Given the description of an element on the screen output the (x, y) to click on. 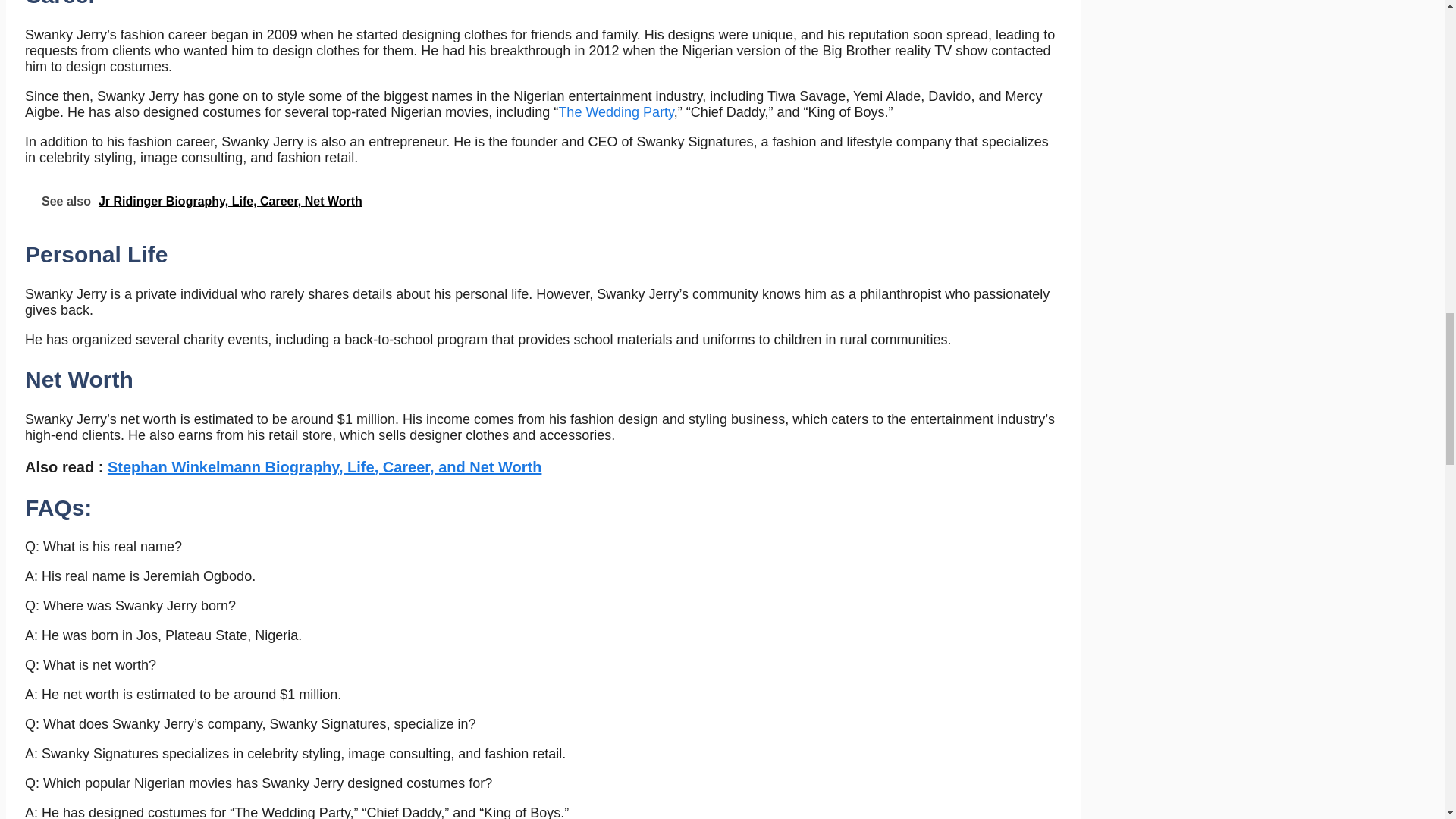
Stephan Winkelmann Biography, Life, Career, and Net Worth (324, 466)
The Wedding Party (614, 111)
See also  Jr Ridinger Biography, Life, Career, Net Worth (544, 200)
